Given the description of an element on the screen output the (x, y) to click on. 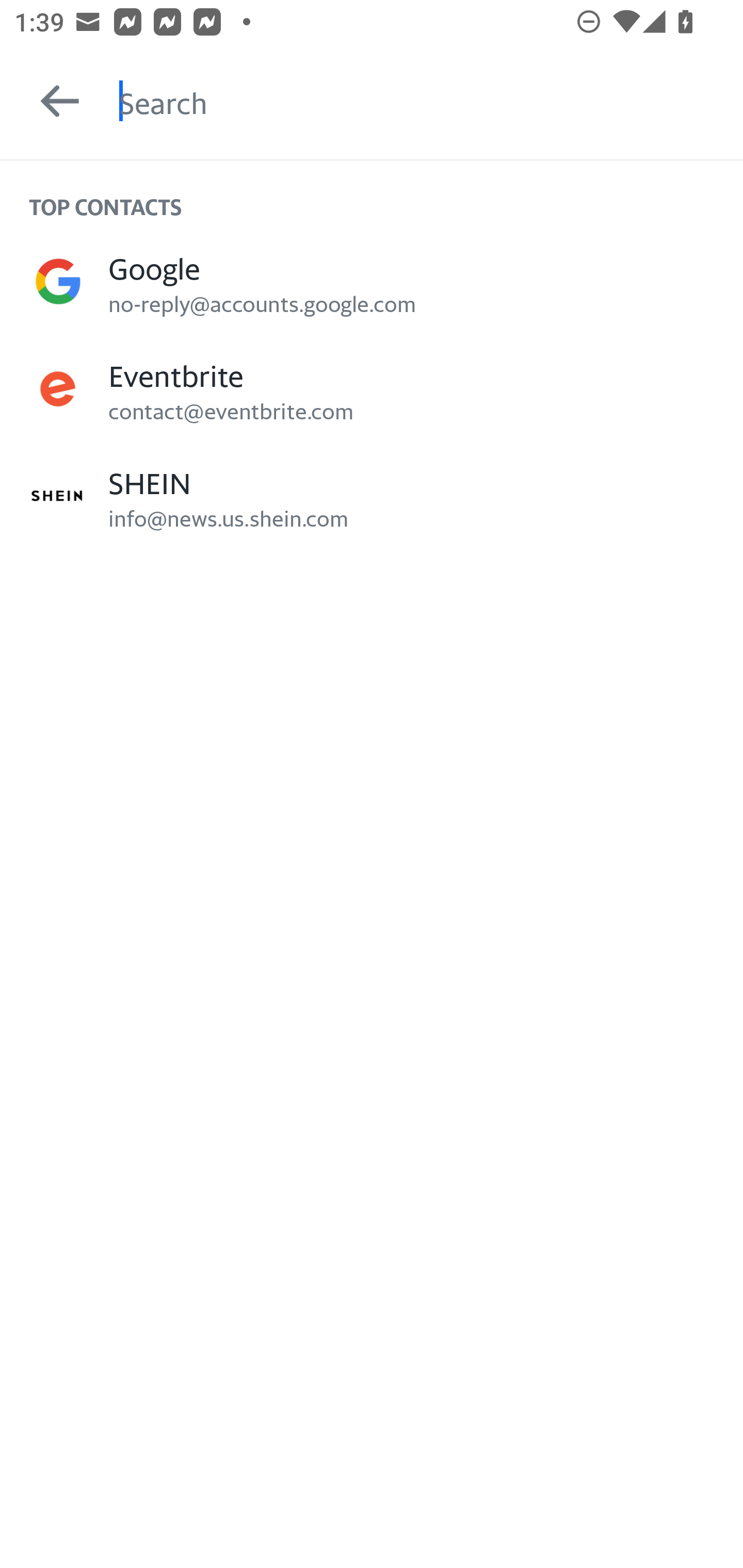
Back (50, 101)
Search (430, 101)
Top contacts Google no-reply@accounts.google.com (371, 281)
Top contacts Eventbrite contact@eventbrite.com (371, 388)
Top contacts SHEIN info@news.us.shein.com (371, 496)
